Given the description of an element on the screen output the (x, y) to click on. 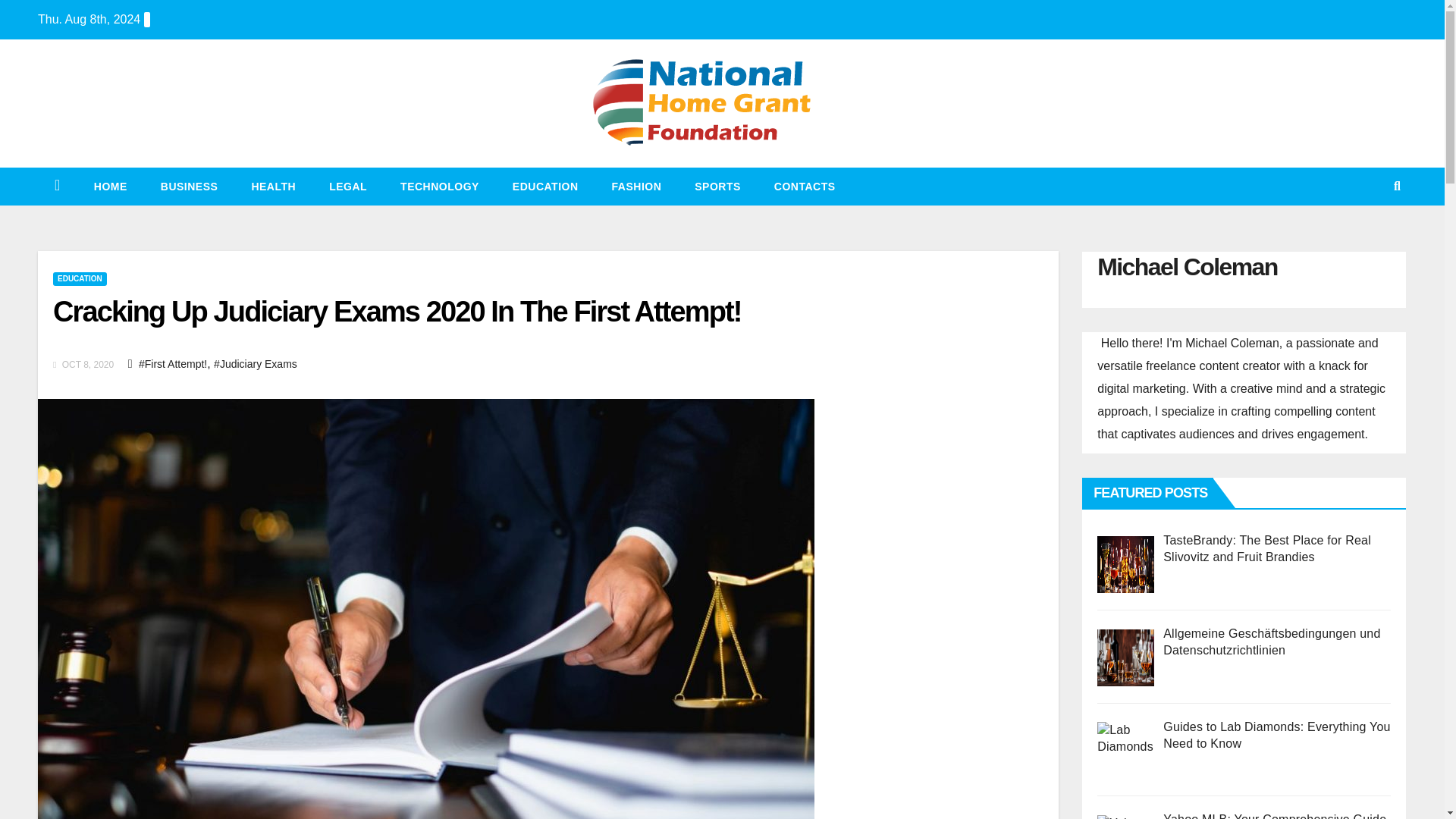
FASHION (636, 186)
Sports (717, 186)
EDUCATION (79, 278)
Contacts (804, 186)
SPORTS (717, 186)
HOME (110, 186)
BUSINESS (189, 186)
Cracking Up Judiciary Exams 2020 In The First Attempt! (396, 311)
Fashion (636, 186)
HEALTH (273, 186)
Home (110, 186)
Technology (440, 186)
EDUCATION (545, 186)
